Given the description of an element on the screen output the (x, y) to click on. 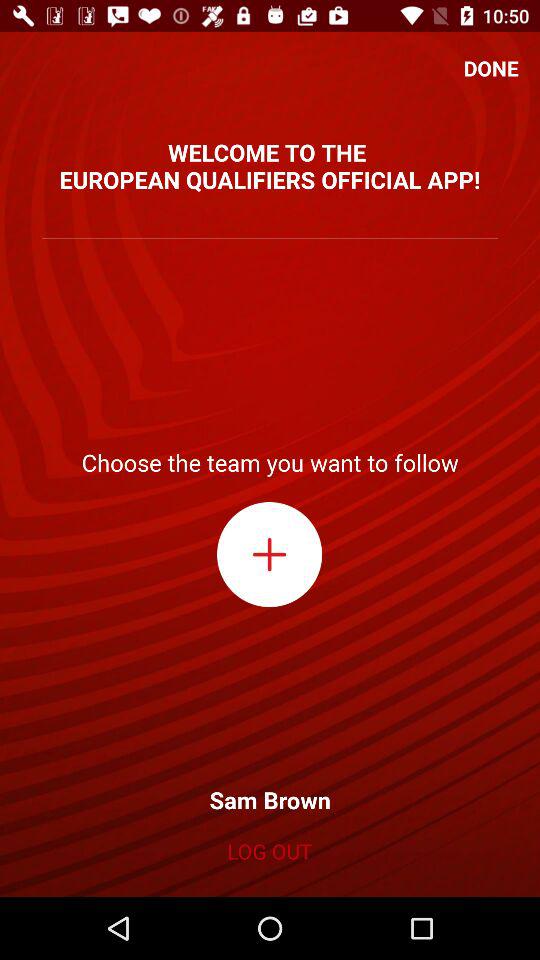
turn off icon at the top right corner (491, 68)
